Given the description of an element on the screen output the (x, y) to click on. 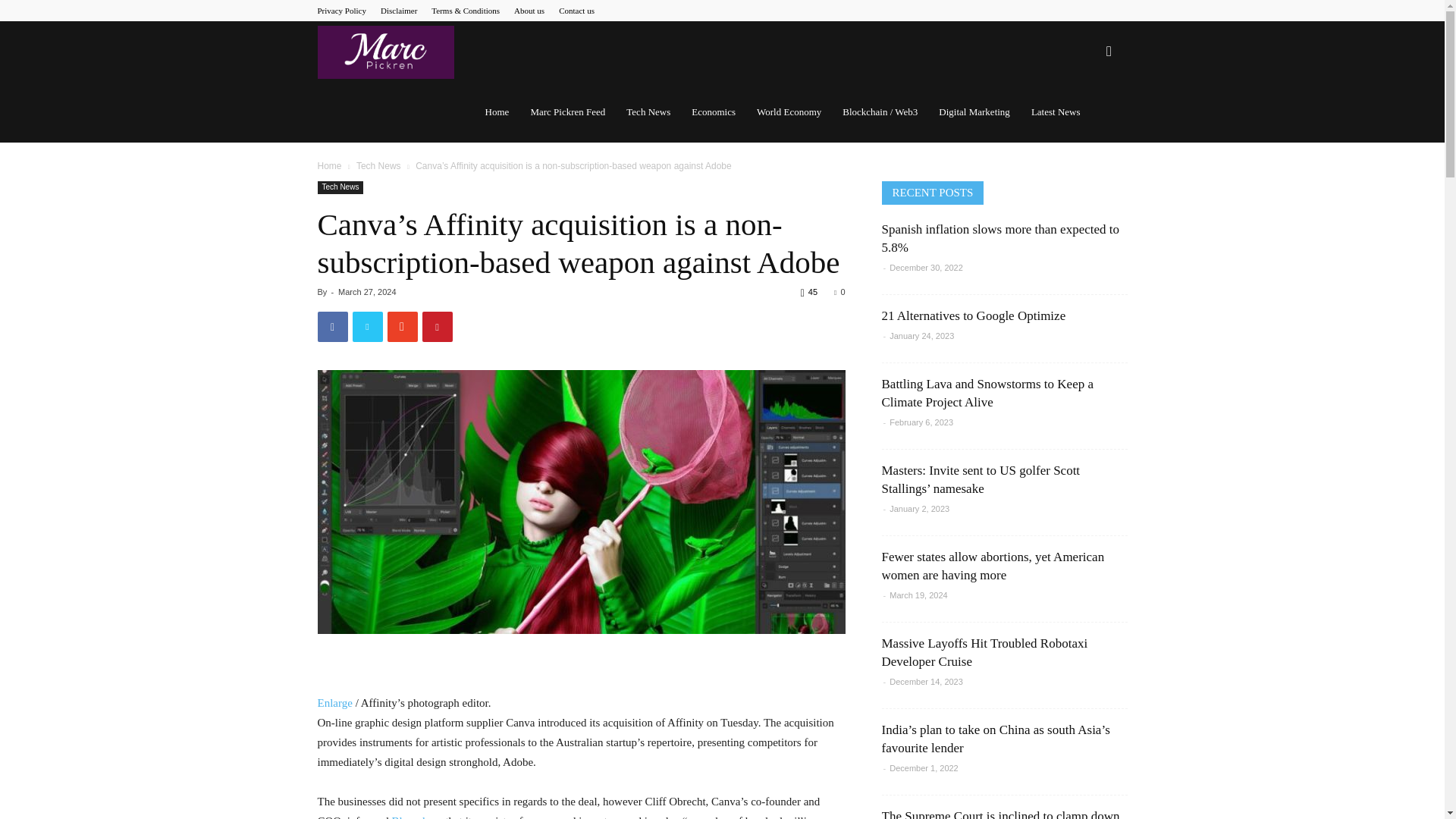
Contact us (576, 10)
Marc Pickren Feed (567, 111)
About us (528, 10)
Latest News (1055, 111)
Economics (713, 111)
Home (328, 165)
Tech News (378, 165)
Digital Marketing (974, 111)
Search (1085, 124)
View all posts in Tech News (378, 165)
World Economy (788, 111)
0 (839, 291)
Marc Pickren (384, 51)
Disclaimer (398, 10)
Tech News (339, 187)
